Given the description of an element on the screen output the (x, y) to click on. 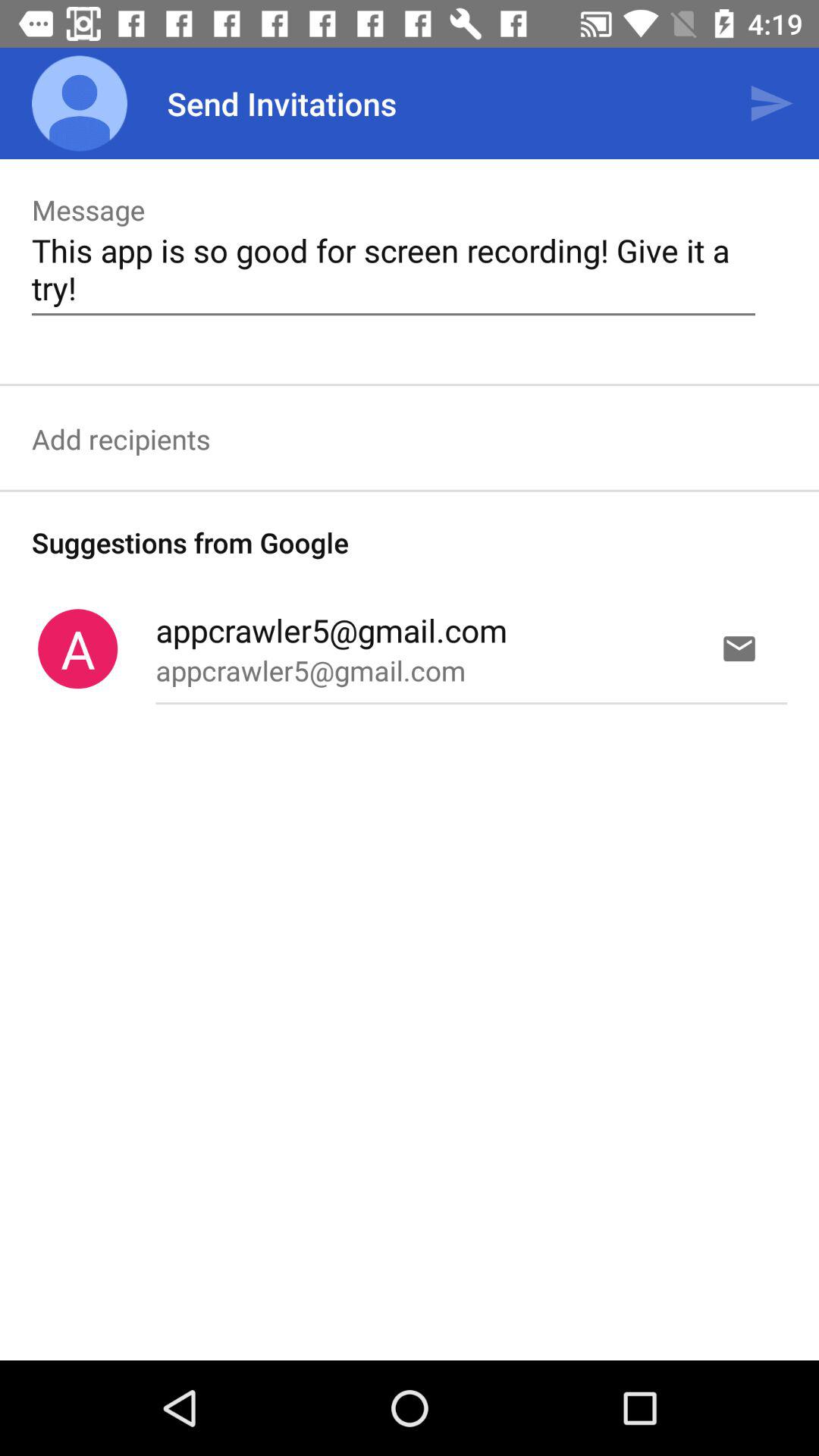
flip to this app is icon (393, 268)
